Given the description of an element on the screen output the (x, y) to click on. 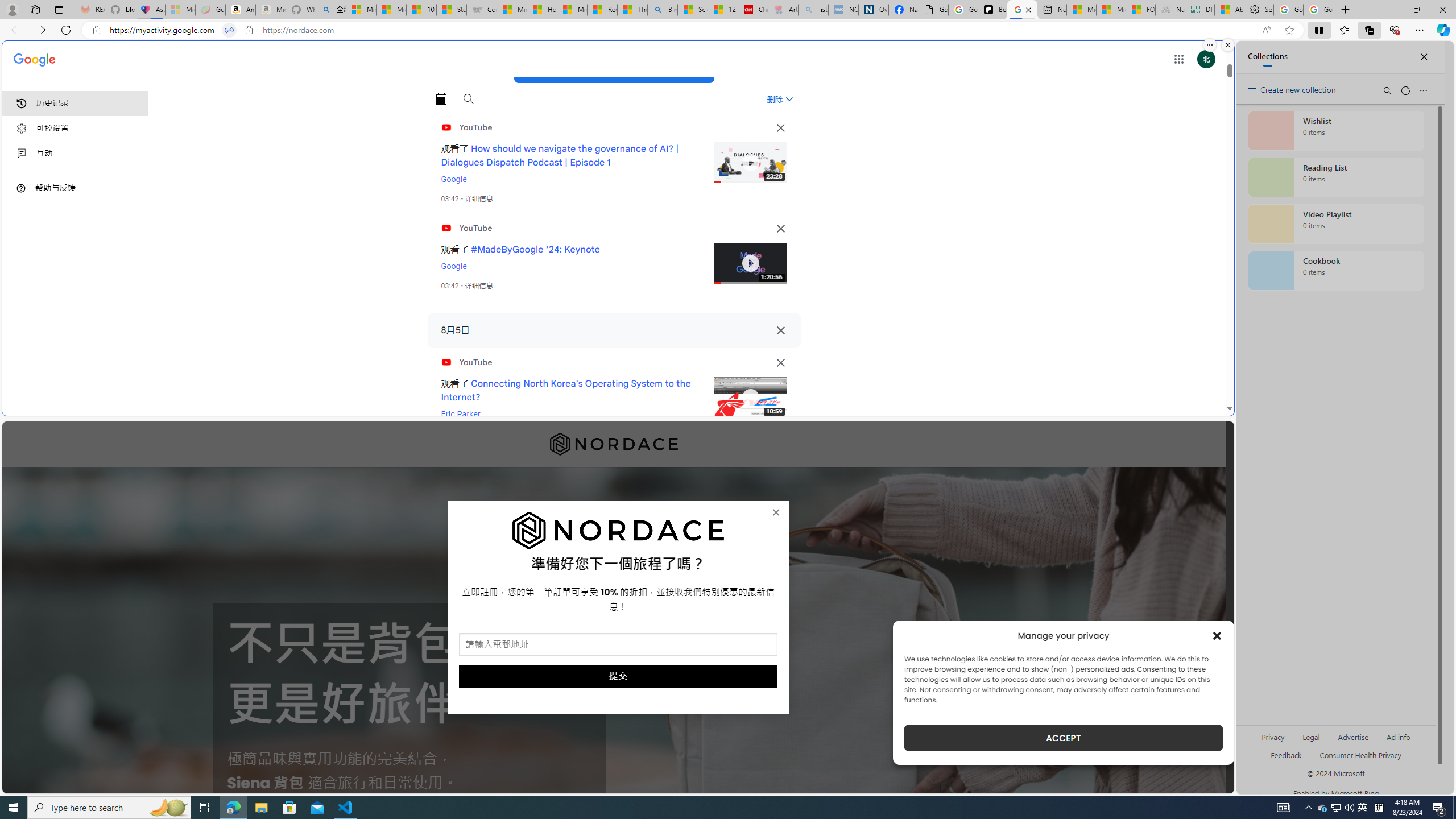
Eric Parker (460, 414)
